Given the description of an element on the screen output the (x, y) to click on. 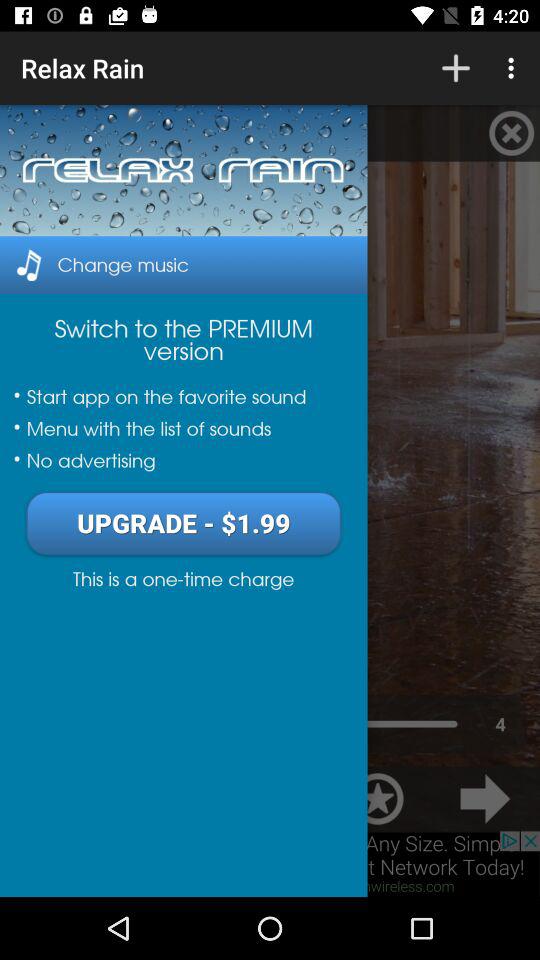
click on upgrade199 button (182, 522)
click the more 3 dot symbol (514, 68)
click the top right side cancel option (511, 133)
